Given the description of an element on the screen output the (x, y) to click on. 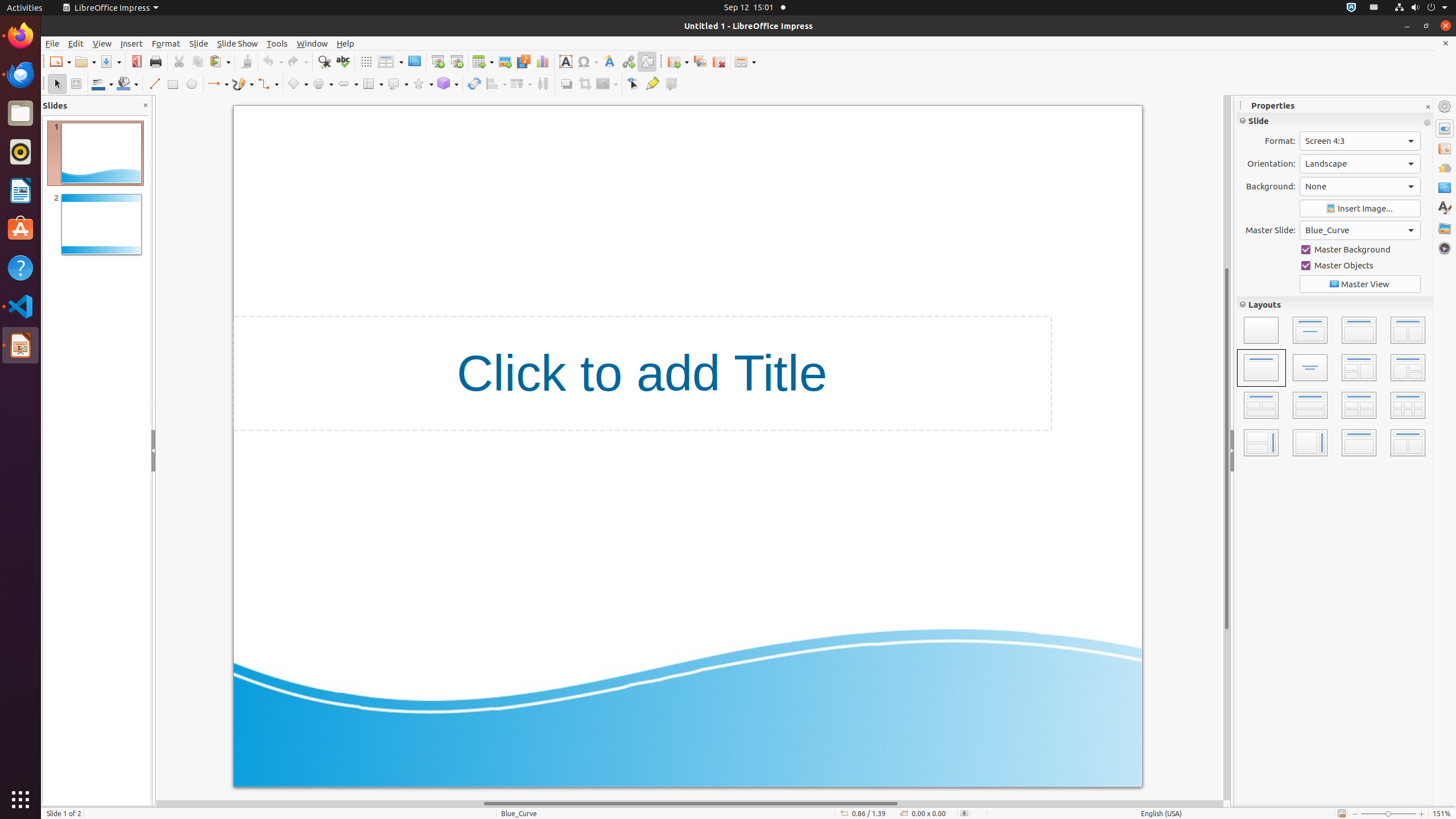
Properties Element type: radio-button (1444, 128)
Demote Element type: push-button (1379, 386)
Slide Element type: menu (198, 43)
Top Element type: toggle-button (1393, 234)
Decrease Element type: push-button (1357, 276)
